Given the description of an element on the screen output the (x, y) to click on. 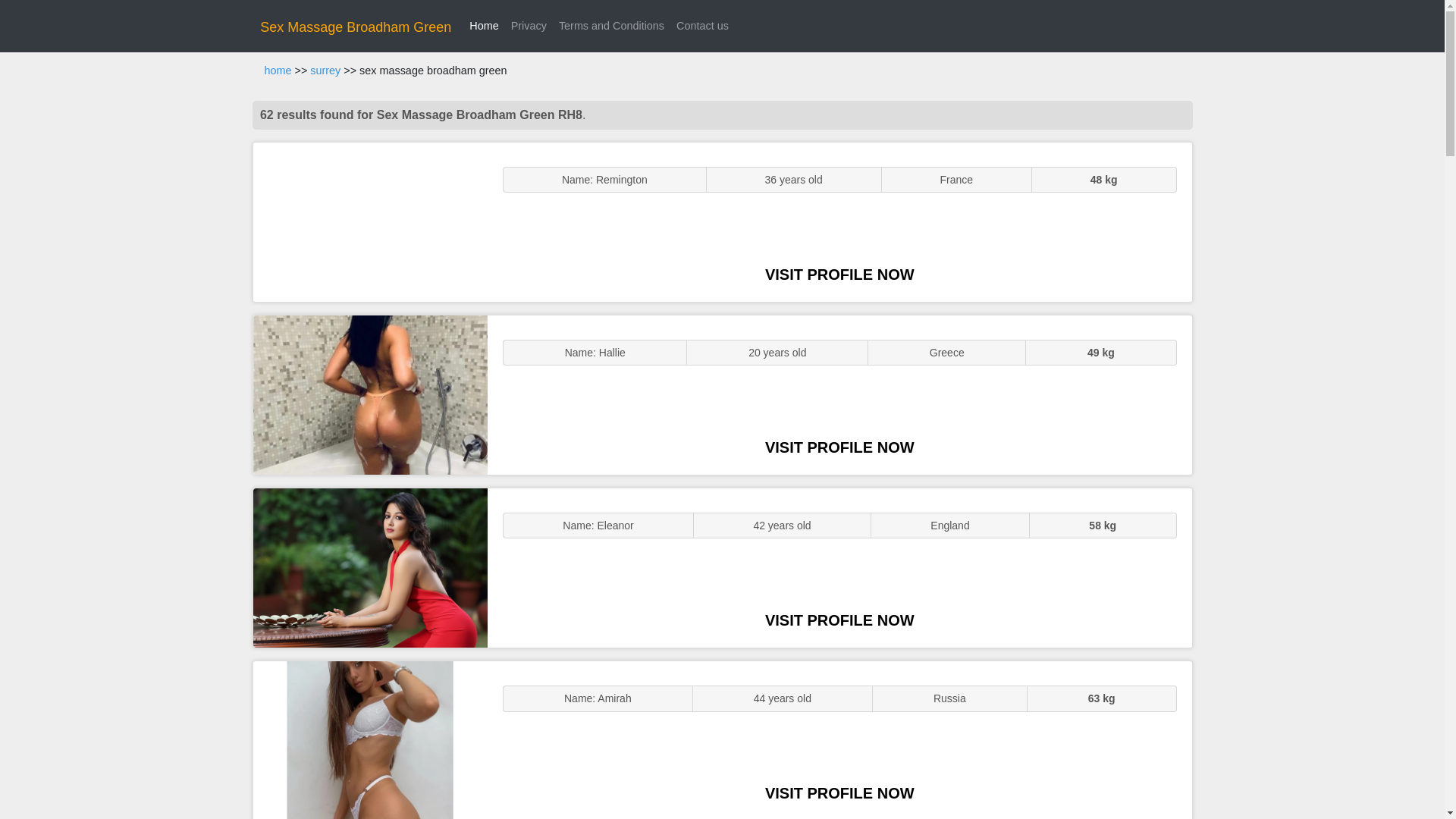
GFE (370, 395)
VISIT PROFILE NOW (839, 619)
surrey (325, 70)
VISIT PROFILE NOW (839, 274)
VISIT PROFILE NOW (839, 792)
Privacy (529, 25)
Terms and Conditions (611, 25)
VISIT PROFILE NOW (839, 446)
Sluts (370, 739)
 ENGLISH STUNNER (370, 222)
Contact us (702, 25)
Sexy (370, 567)
home (277, 70)
Sex Massage Broadham Green (355, 27)
